Given the description of an element on the screen output the (x, y) to click on. 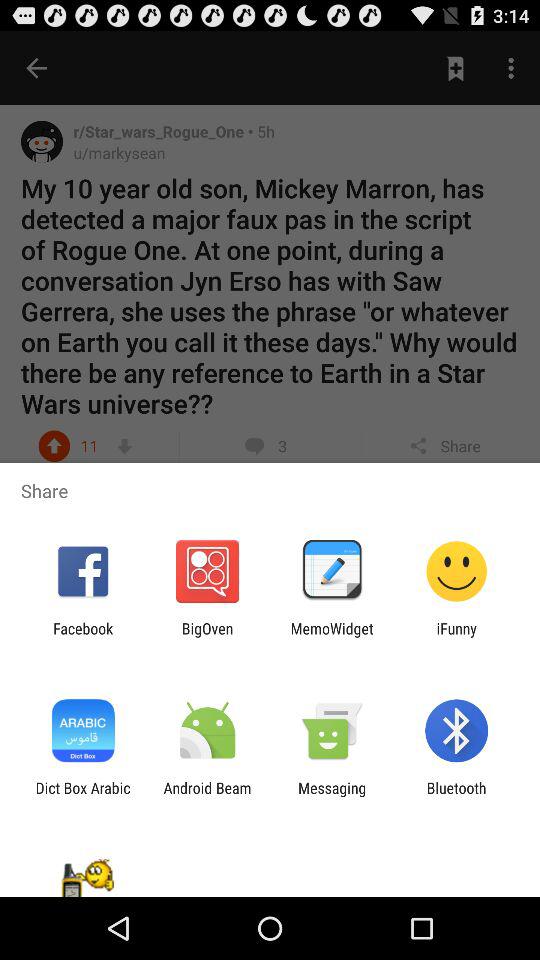
press app next to the messaging icon (207, 796)
